Given the description of an element on the screen output the (x, y) to click on. 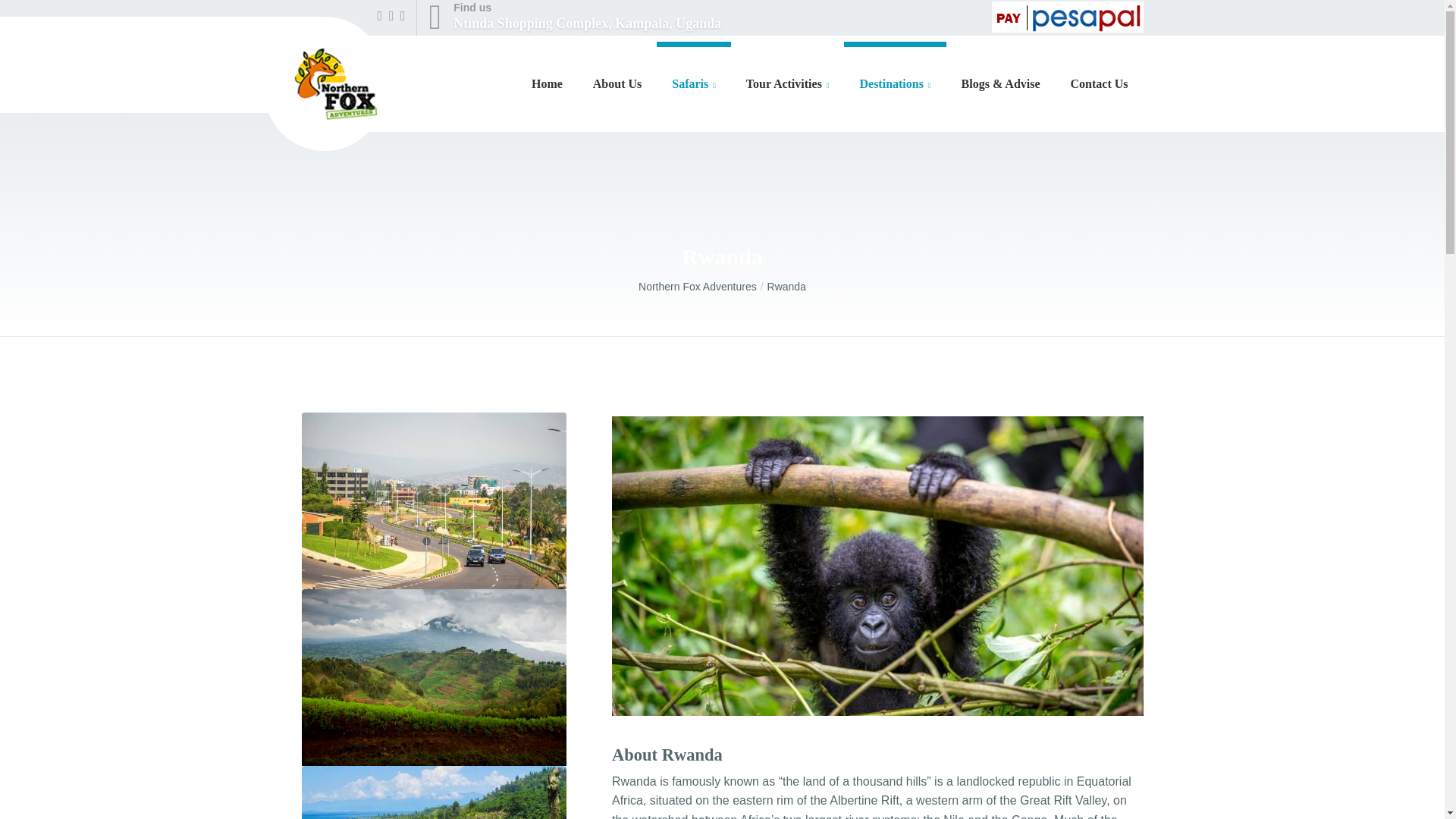
Go to Northern Fox Adventures. (703, 286)
About Us (574, 17)
Go to Rwanda. (617, 83)
Rwanda (786, 286)
